Given the description of an element on the screen output the (x, y) to click on. 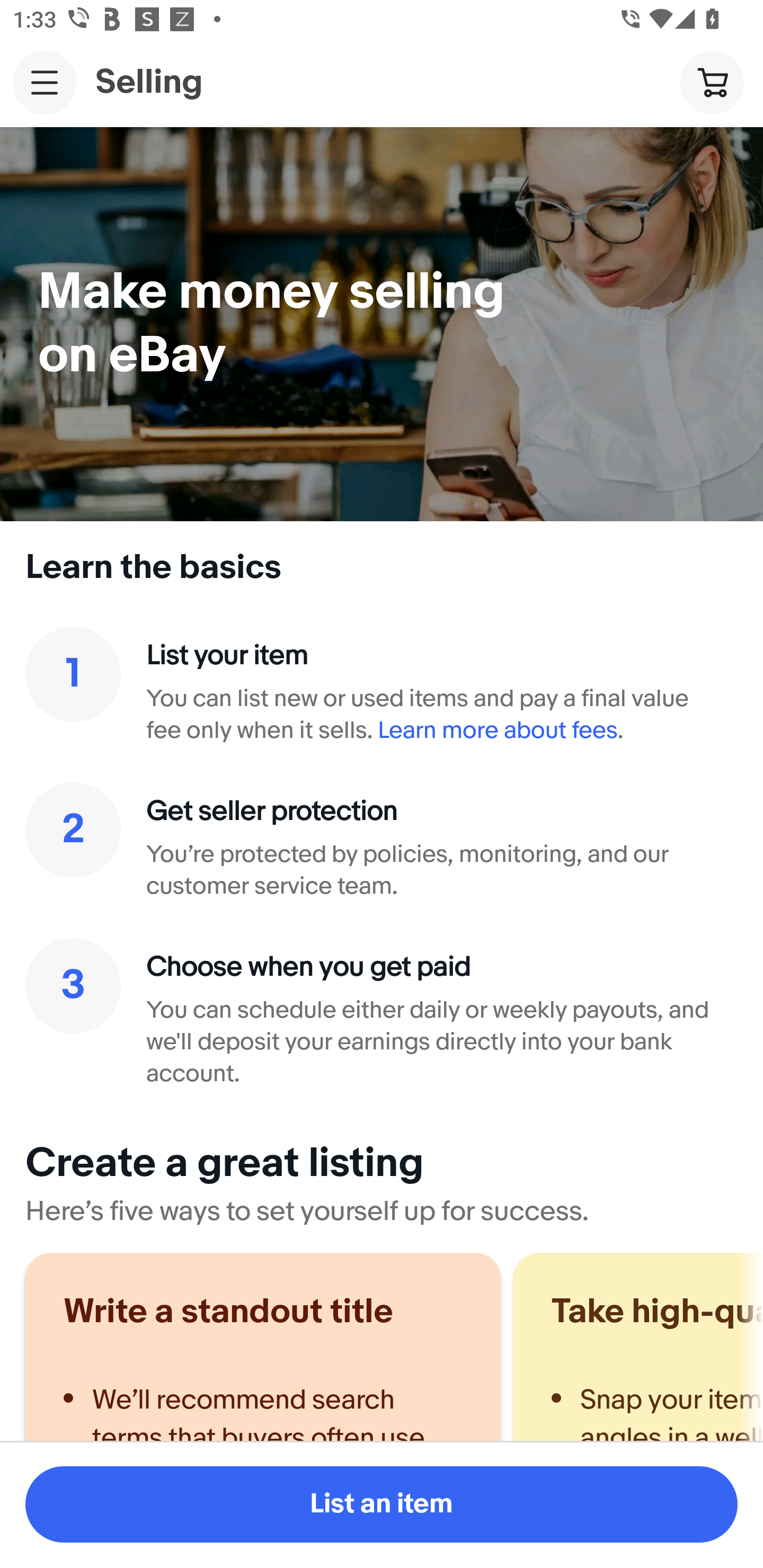
Main navigation, open (44, 82)
Cart button shopping cart (711, 81)
List an item (381, 1504)
